Given the description of an element on the screen output the (x, y) to click on. 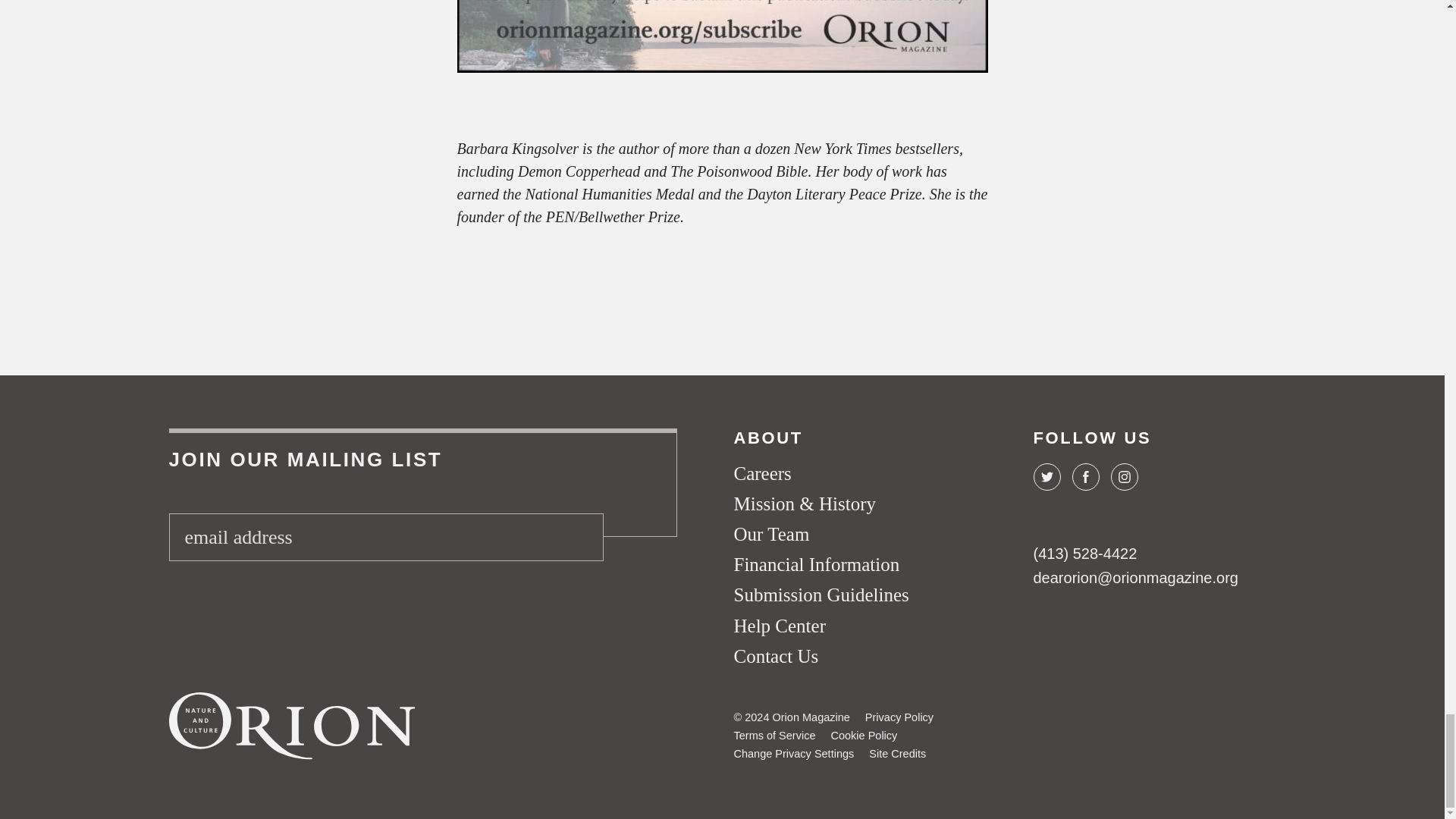
On Twitter (1045, 476)
On Facebook (1085, 476)
On Instagram (1123, 476)
